Given the description of an element on the screen output the (x, y) to click on. 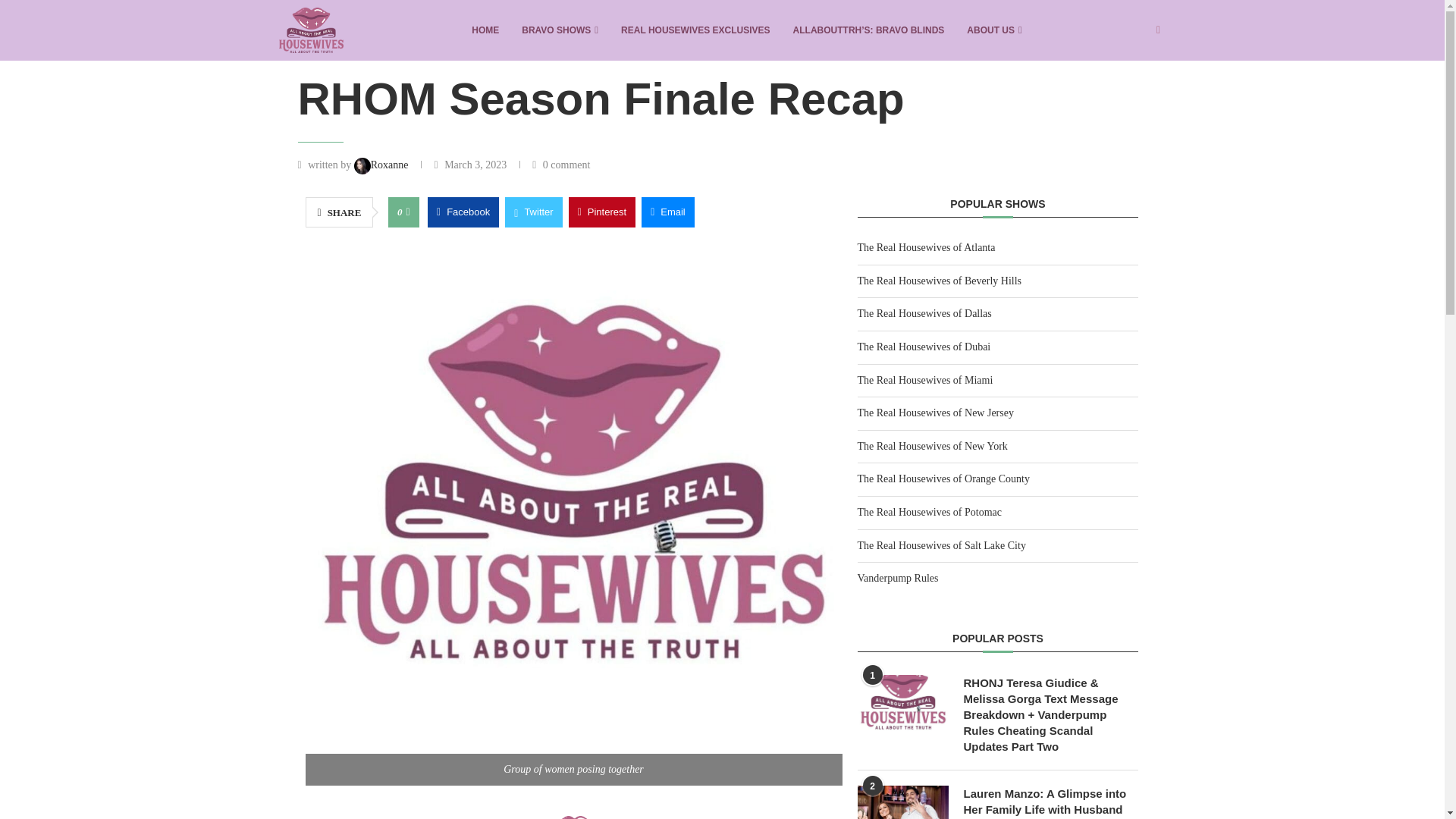
BRAVO SHOWS (559, 30)
